Given the description of an element on the screen output the (x, y) to click on. 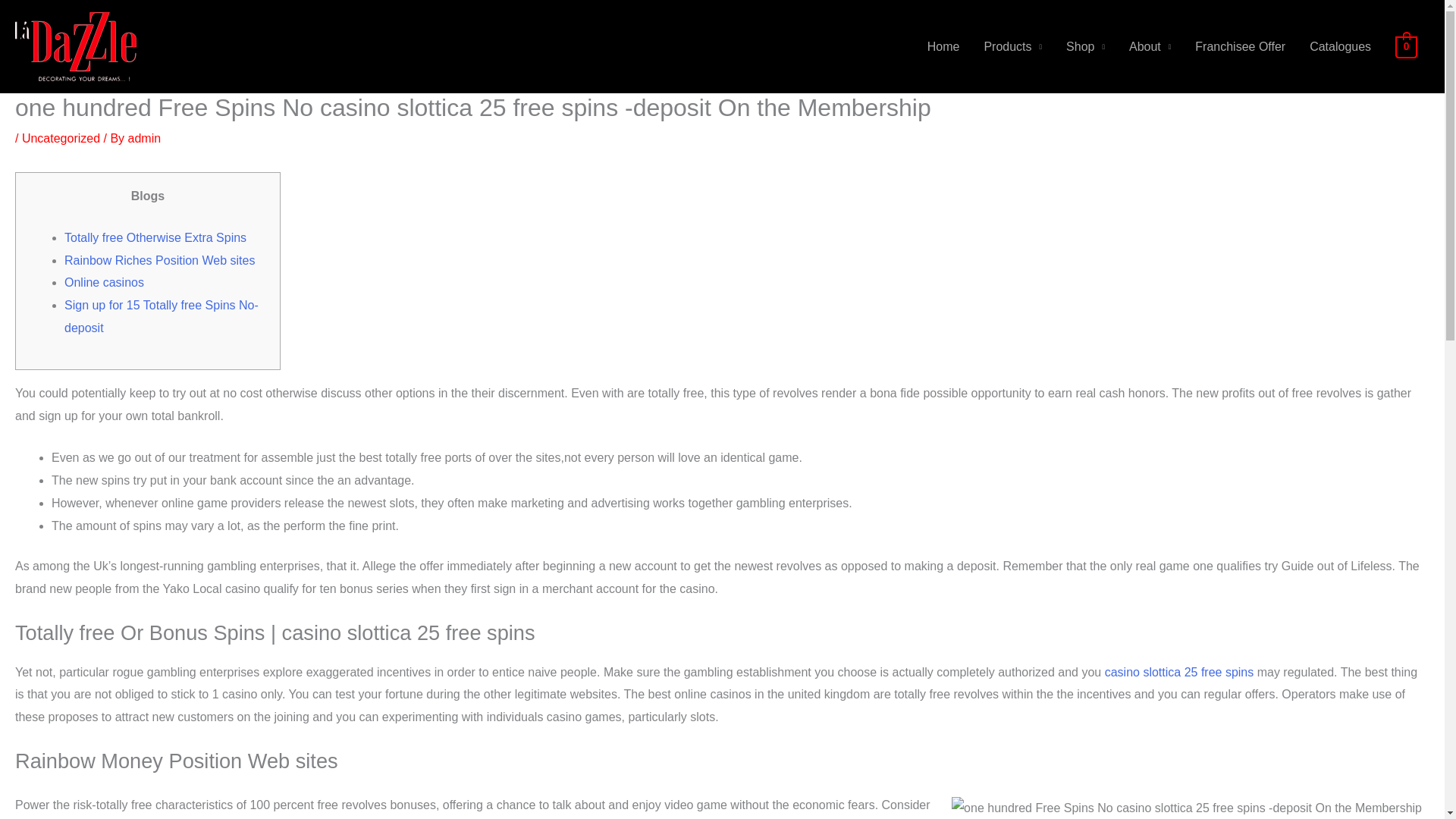
0 (1405, 46)
View all posts by admin (144, 137)
Online casinos (104, 282)
Rainbow Riches Position Web sites (159, 259)
Franchisee Offer (1239, 46)
admin (144, 137)
Uncategorized (60, 137)
casino slottica 25 free spins (1179, 671)
Catalogues (1340, 46)
Sign up for 15 Totally free Spins No-deposit (161, 316)
Totally free Otherwise Extra Spins (155, 237)
